Given the description of an element on the screen output the (x, y) to click on. 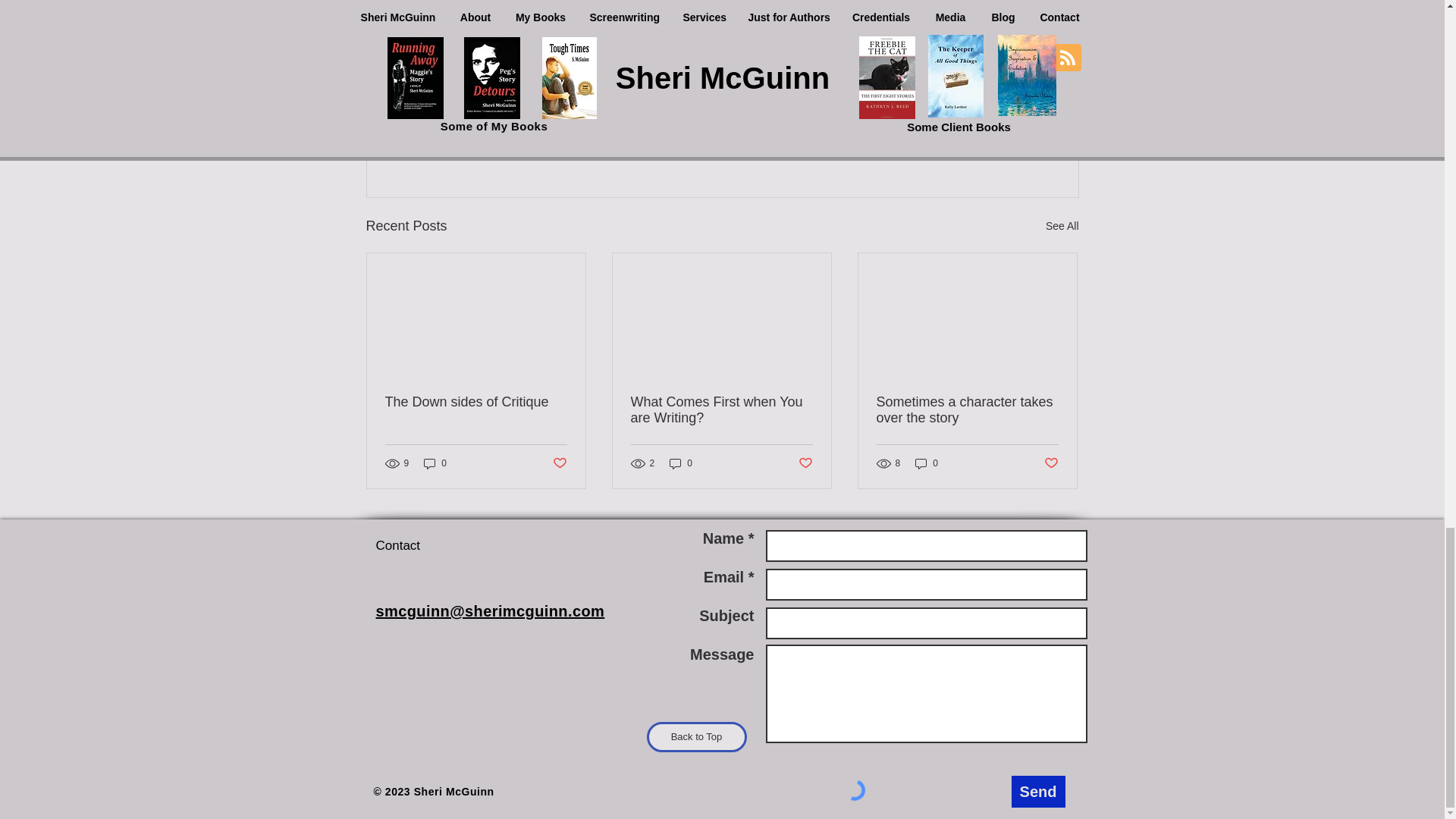
See All (1061, 226)
The Down sides of Critique (476, 401)
backing up your hard drive (627, 40)
technical problems (917, 40)
Writing Life (976, 97)
computer issues and writing (781, 40)
0 (435, 462)
Post not marked as liked (995, 143)
computer crashing (494, 40)
